Given the description of an element on the screen output the (x, y) to click on. 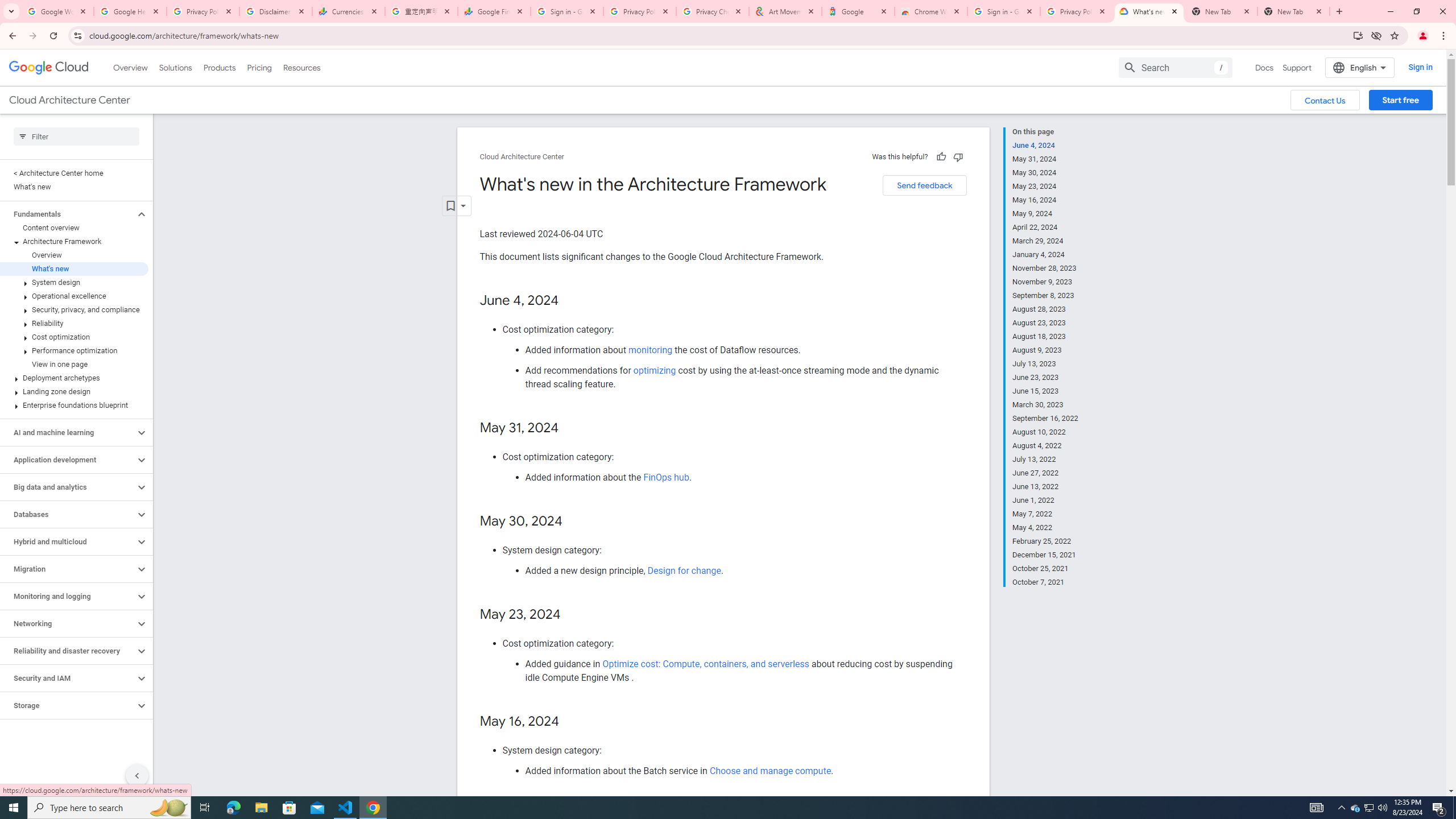
View in one page (74, 364)
Choose and manage compute (770, 770)
Google Cloud (48, 67)
January 4, 2024 (1044, 254)
Support (1296, 67)
